Given the description of an element on the screen output the (x, y) to click on. 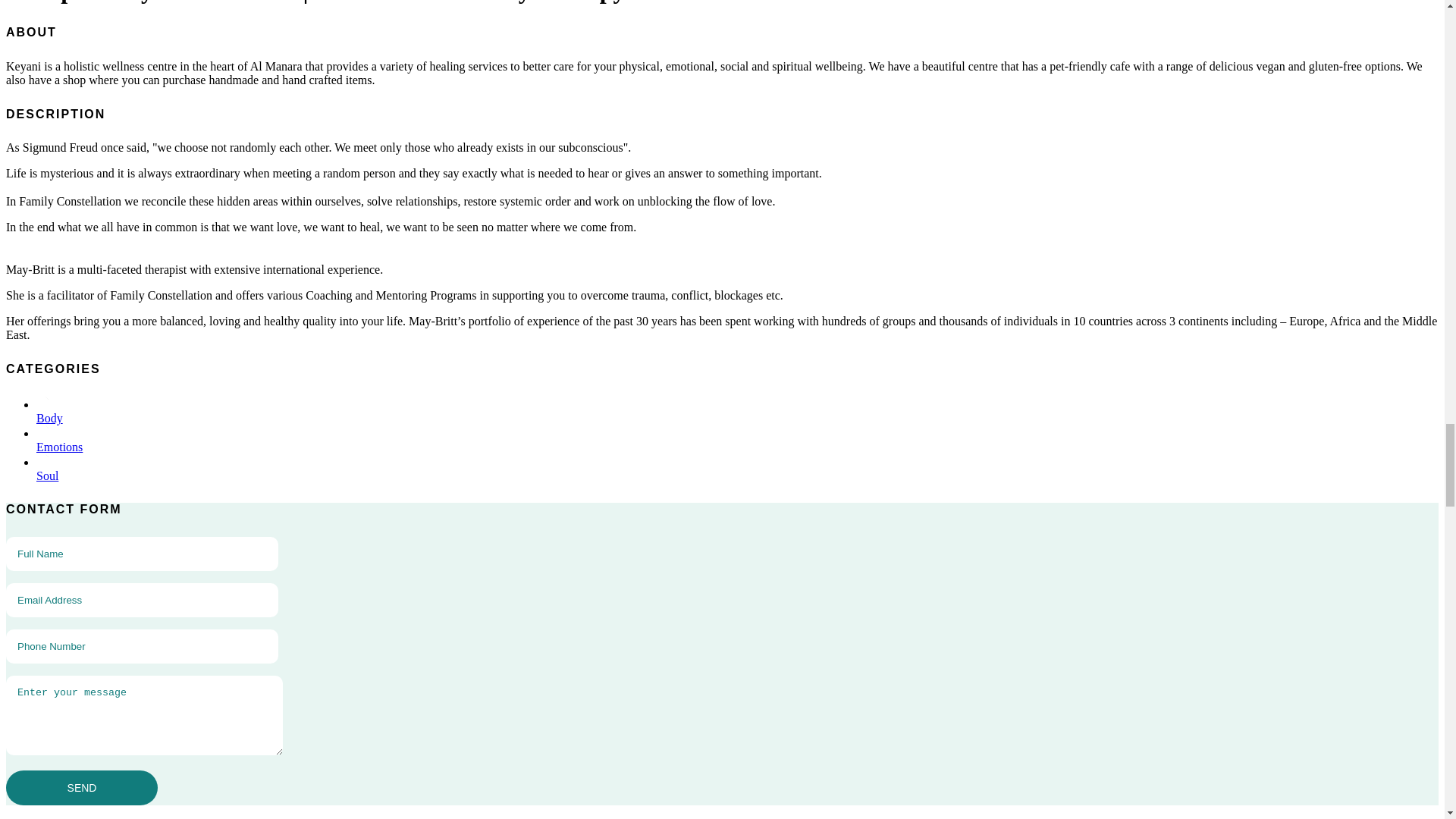
Send (81, 787)
